Given the description of an element on the screen output the (x, y) to click on. 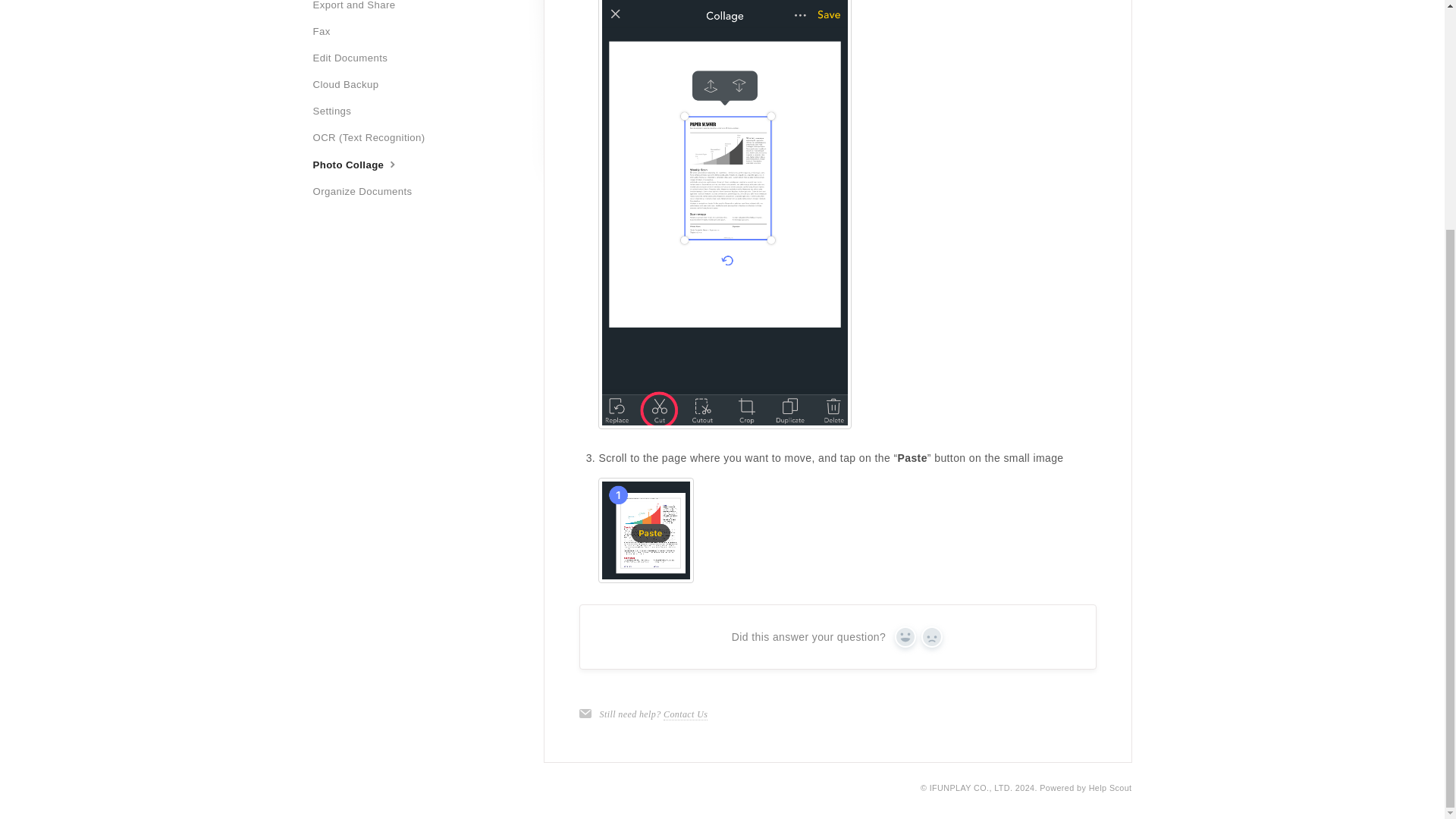
Fax (326, 31)
Export and Share (359, 8)
No (931, 636)
Cloud Backup (351, 84)
Contact Us (685, 714)
Organize Documents (368, 191)
Yes (905, 636)
Settings (337, 111)
Photo Collage (362, 164)
Edit Documents (355, 57)
